Given the description of an element on the screen output the (x, y) to click on. 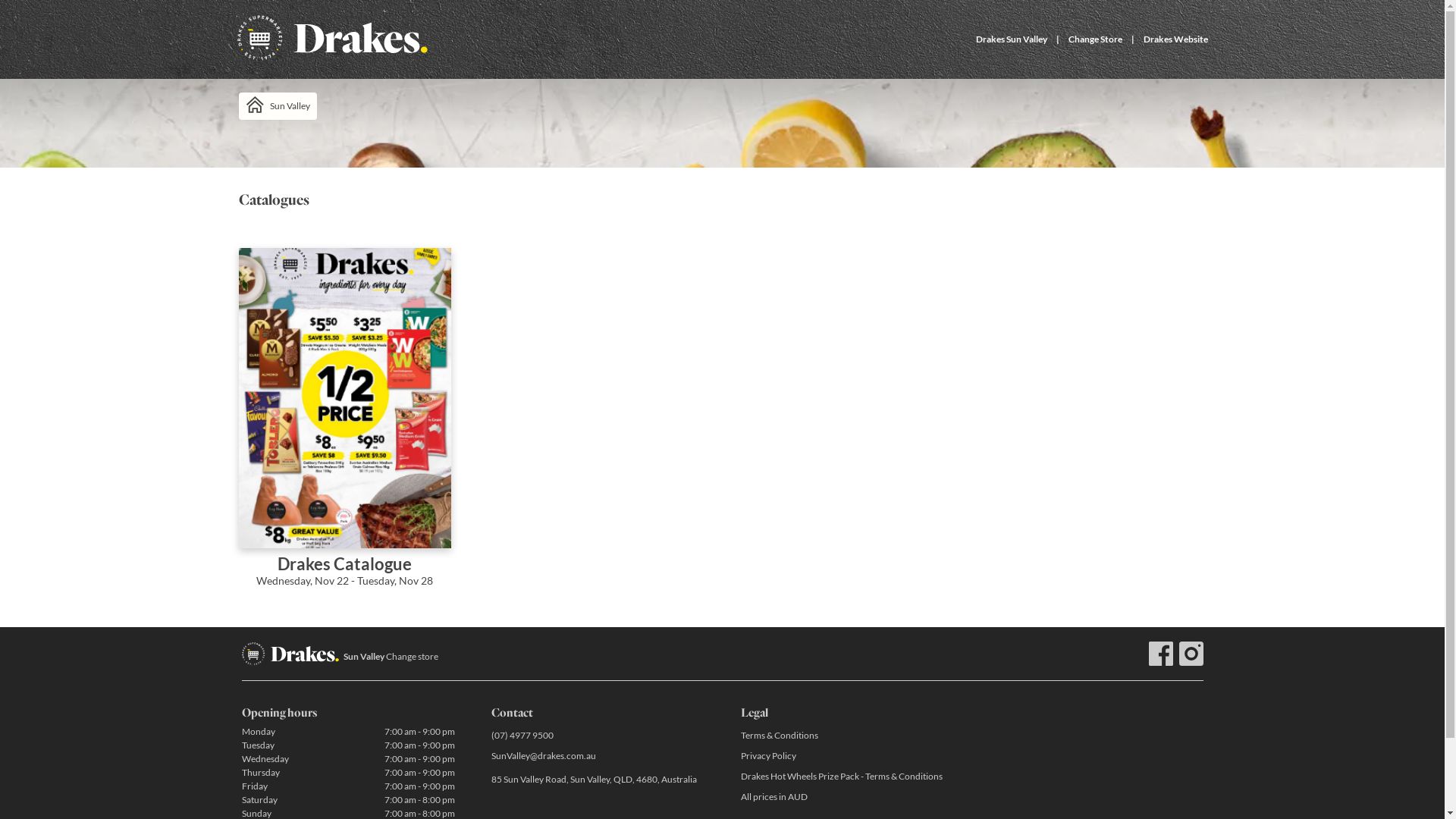
Drakes Website Element type: text (1175, 38)
Sun Valley Element type: text (277, 105)
Drakes Hot Wheels Prize Pack - Terms & Conditions Element type: text (846, 775)
SunValley@drakes.com.au Element type: text (597, 755)
Change Store Element type: text (1094, 38)
Instagram drakessupermarkets Element type: hover (1190, 653)
(07) 4977 9500 Element type: text (597, 734)
Sun Valley Change store Element type: text (390, 656)
Privacy Policy Element type: text (846, 755)
85 Sun Valley Road, Sun Valley, QLD, 4680, Australia Element type: text (597, 778)
Facebook Element type: hover (1160, 653)
Terms & Conditions Element type: text (846, 734)
Drakes Catalogue
Wednesday, Nov 22 - Tuesday, Nov 28 Element type: text (344, 427)
